Given the description of an element on the screen output the (x, y) to click on. 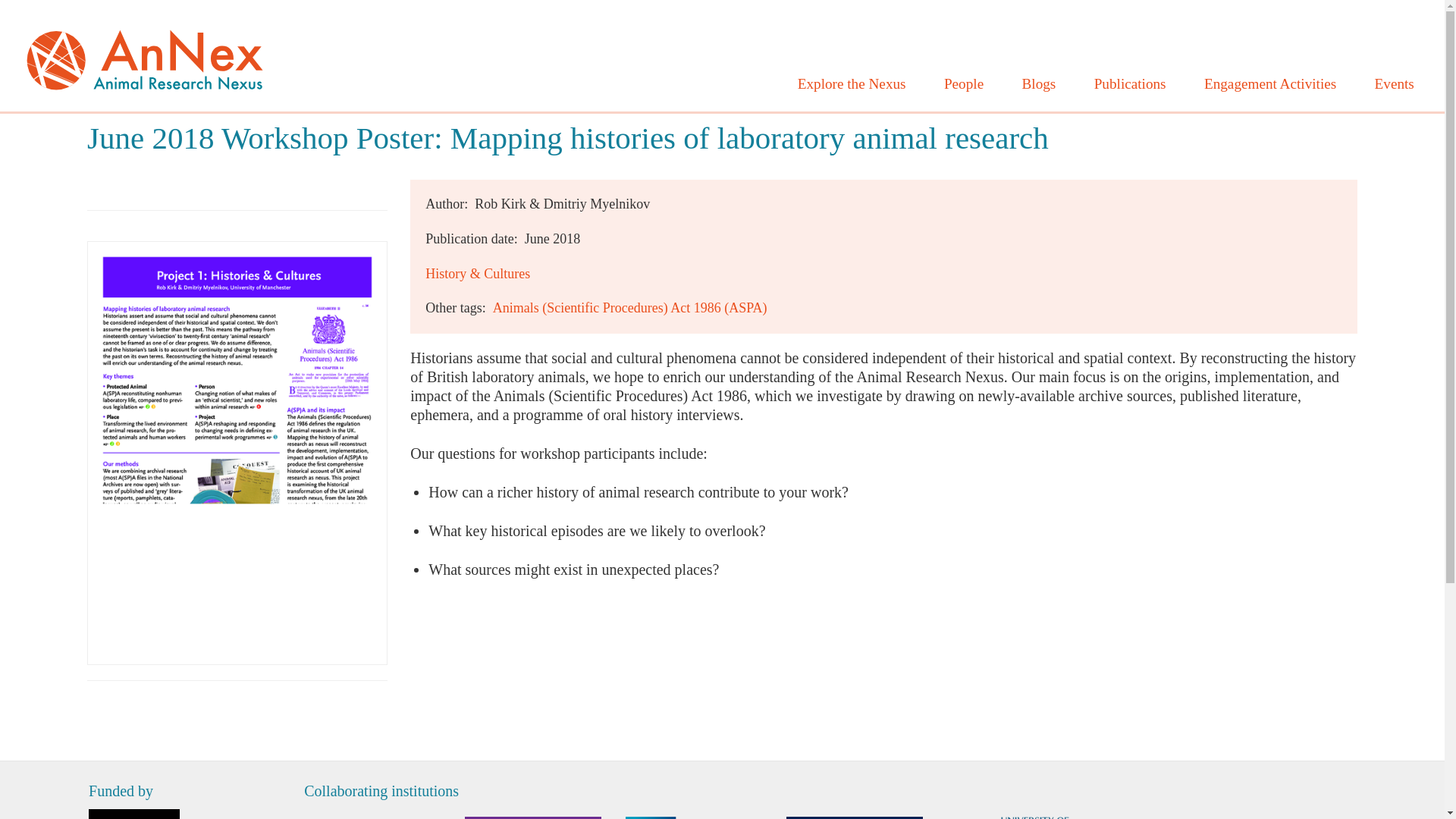
Events (1393, 84)
Explore the Nexus (851, 84)
Home (143, 54)
Publications (1130, 84)
People (964, 84)
Blogs (1038, 84)
Engagement Activities (1270, 84)
